Given the description of an element on the screen output the (x, y) to click on. 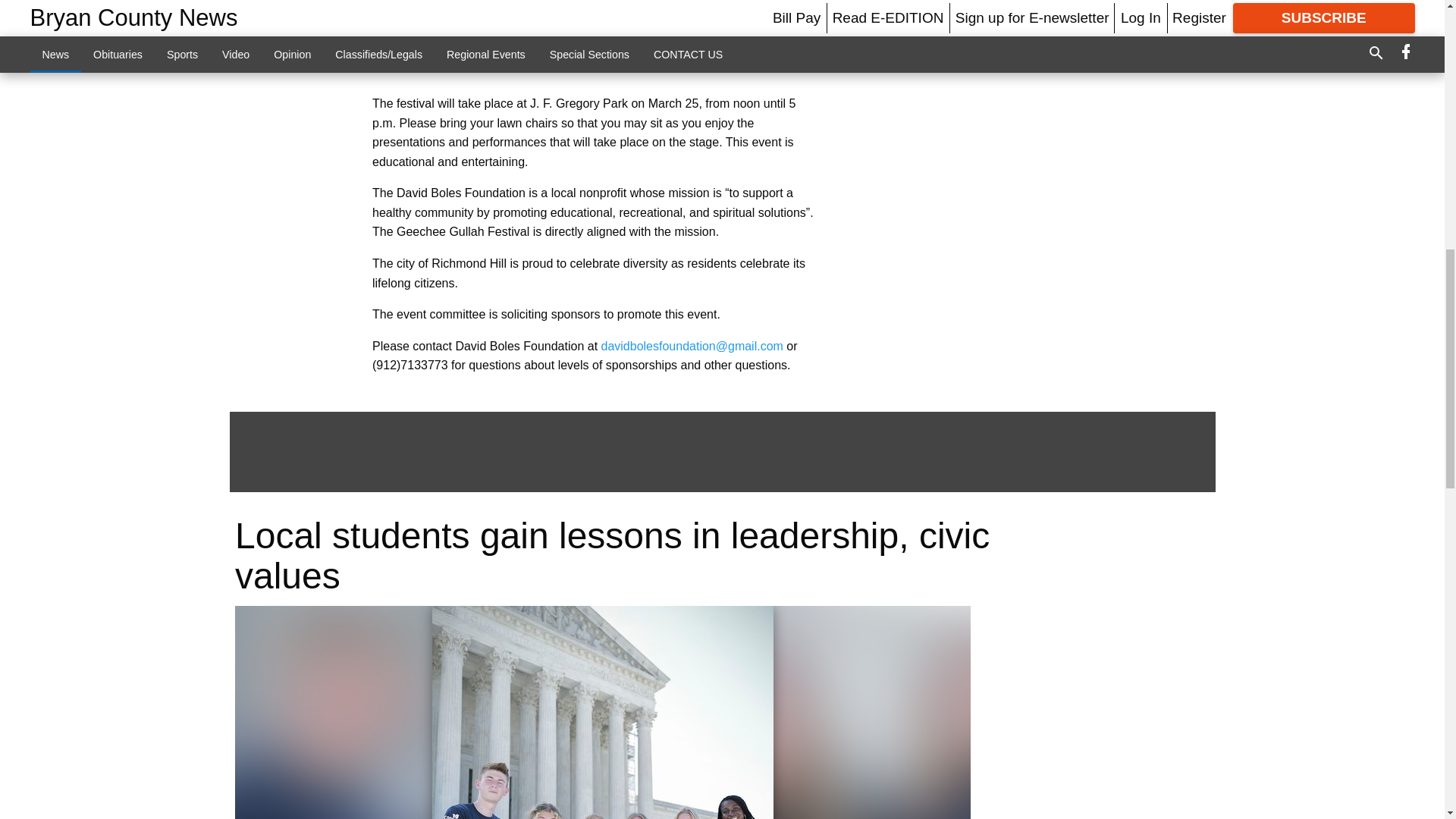
3rd party ad content (602, 38)
